Given the description of an element on the screen output the (x, y) to click on. 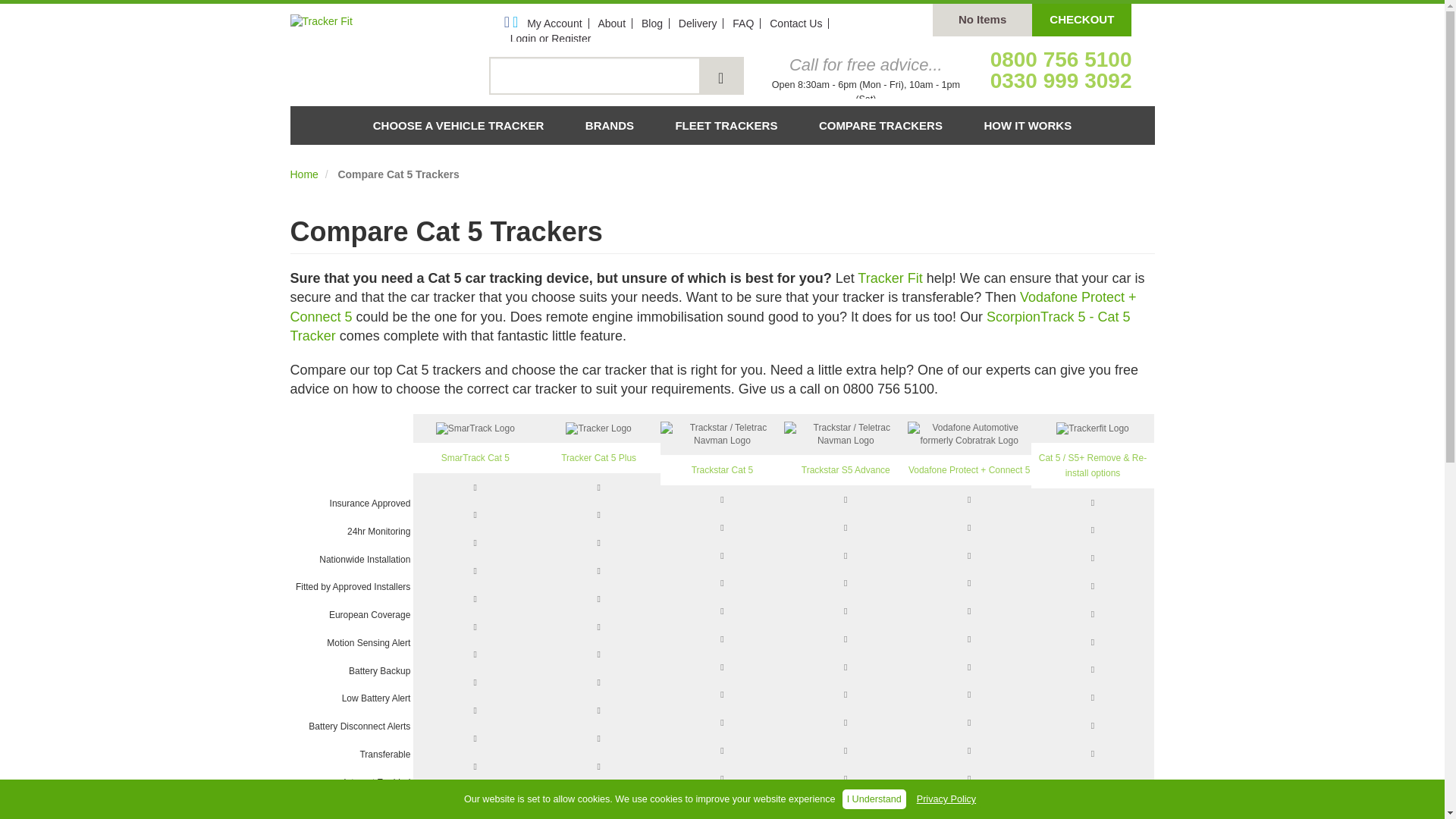
FAQ (743, 23)
Our Blog (651, 23)
Tracker Fit (376, 21)
Contact Us (795, 23)
FAQs (743, 23)
My Account (554, 23)
Delivery (697, 23)
No Items (982, 20)
Privacy Policy (945, 799)
Contact Us (795, 23)
Shopping Basket (1081, 20)
CHECKOUT (1081, 20)
About Us (611, 23)
About (611, 23)
Blog (651, 23)
